Given the description of an element on the screen output the (x, y) to click on. 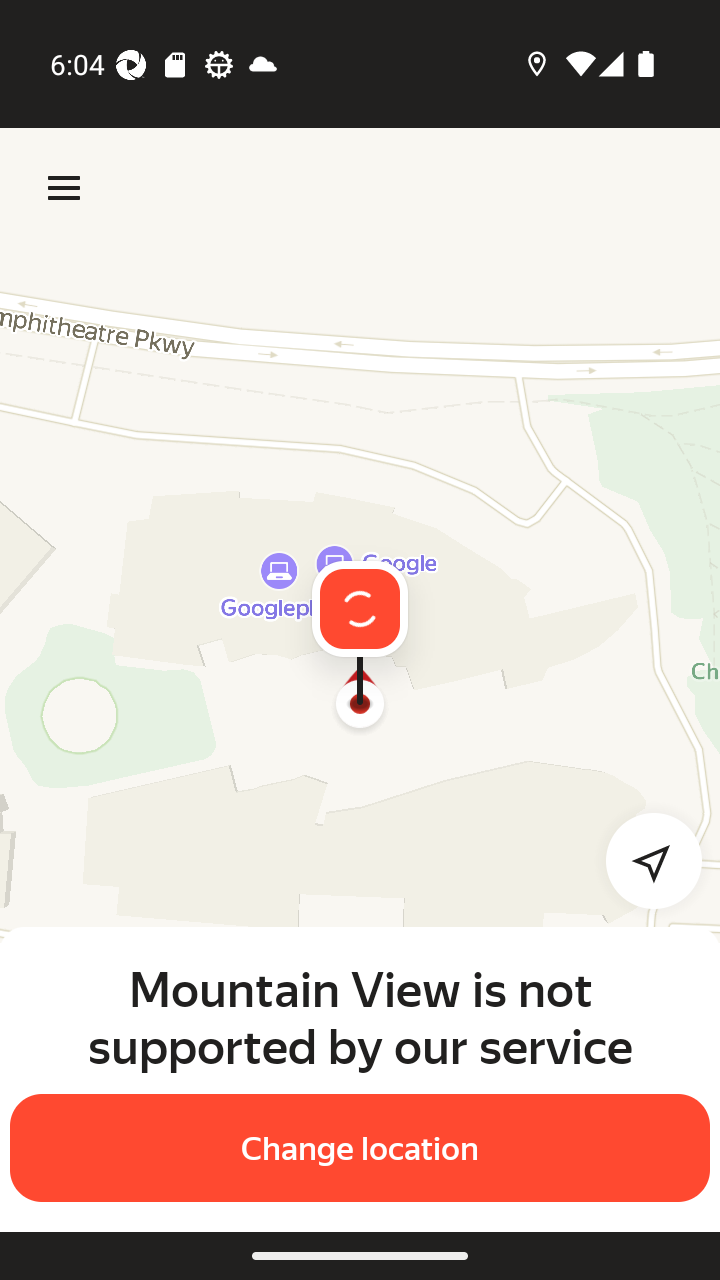
Menu Menu Menu (64, 188)
Detect my location (641, 860)
Mountain View is not supported by our service (360, 1017)
Change location (359, 1147)
